Given the description of an element on the screen output the (x, y) to click on. 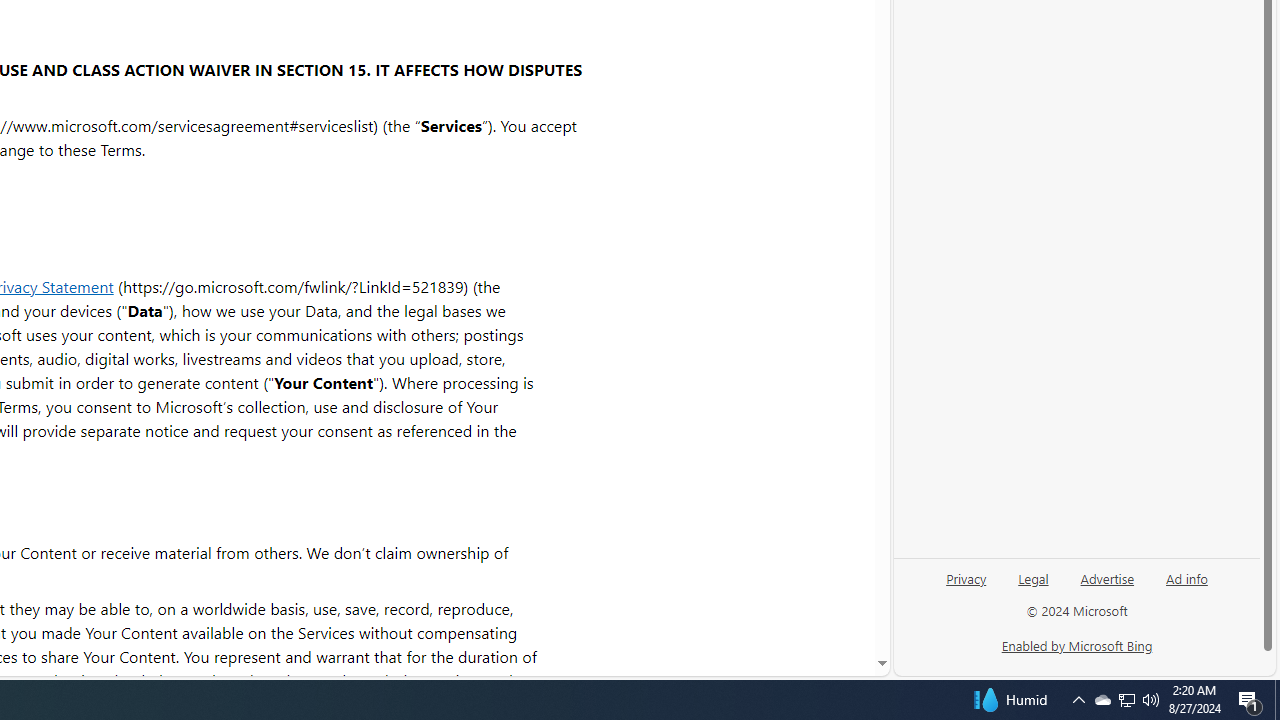
Ad info (1186, 586)
Legal (1033, 577)
Advertise (1106, 586)
Ad info (1187, 577)
Privacy (965, 577)
Legal (1033, 586)
Privacy (966, 586)
Advertise (1107, 577)
